Given the description of an element on the screen output the (x, y) to click on. 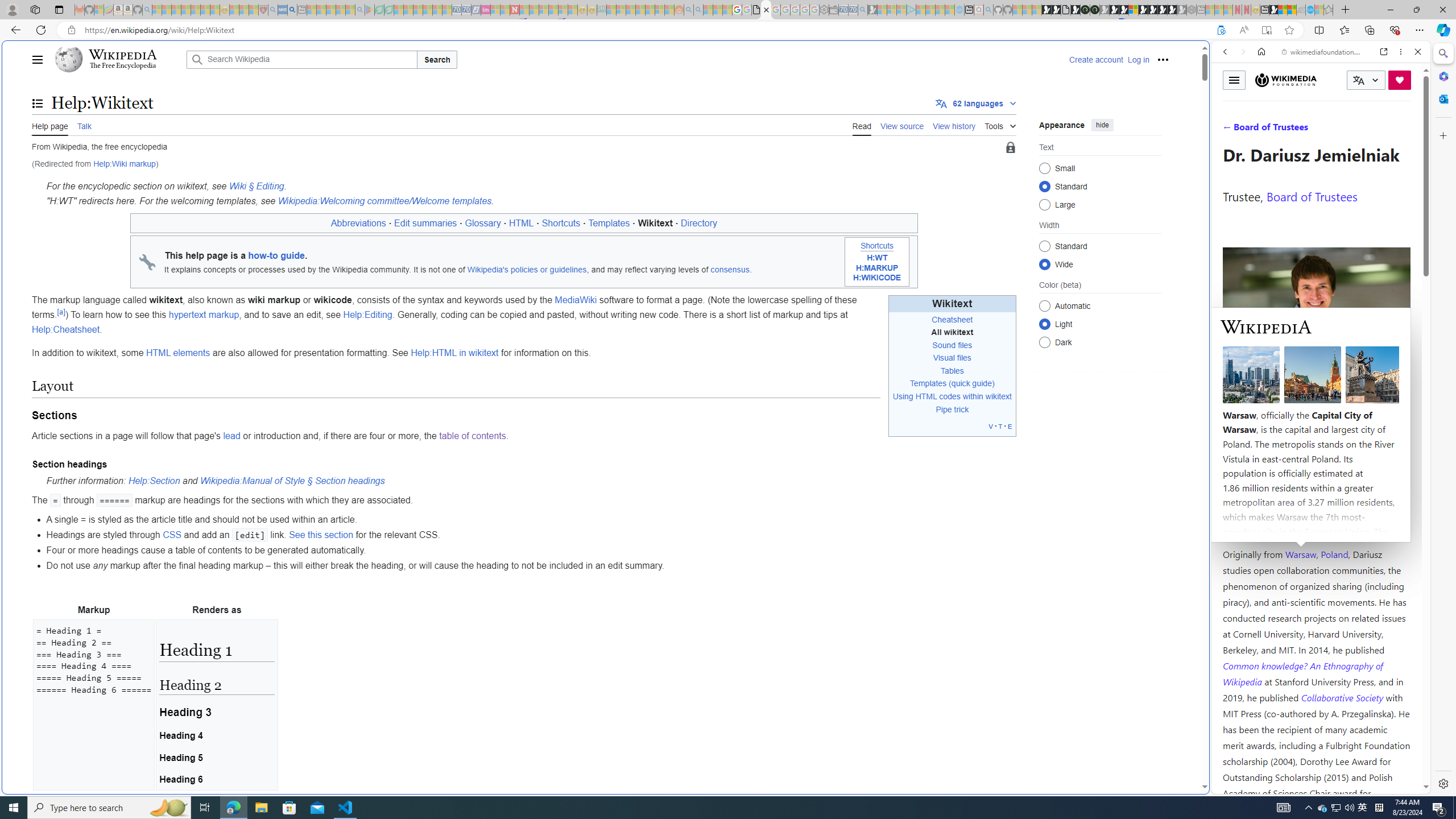
MediaWiki (575, 299)
Help:HTML in wikitext (454, 353)
Sign in to your account (1133, 9)
H:MARKUP (877, 267)
Kozminski University (1316, 486)
Wiktionary (1315, 380)
